Given the description of an element on the screen output the (x, y) to click on. 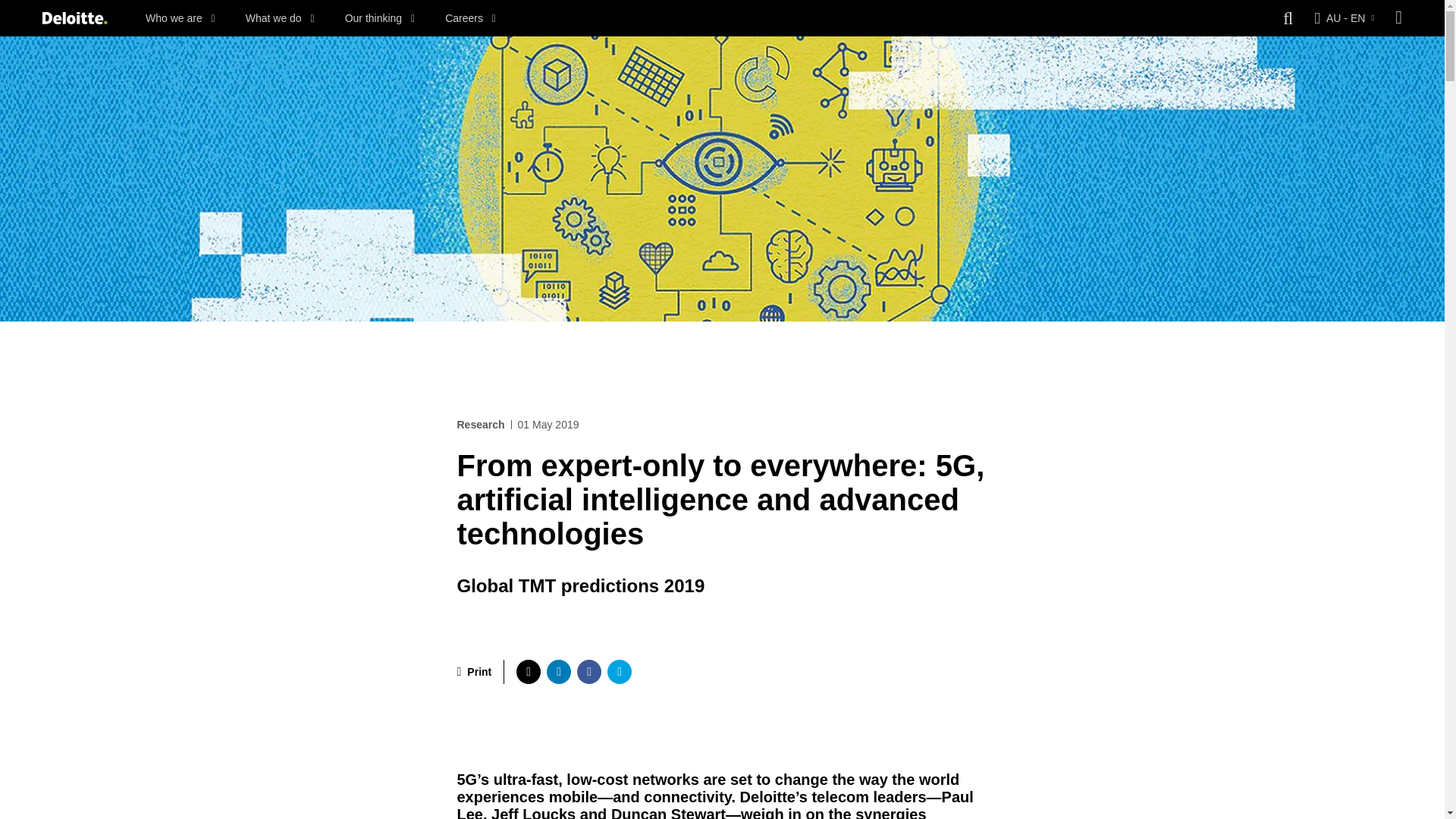
Deloitte (74, 18)
Who we are (180, 18)
share via email (619, 671)
Print (474, 671)
Careers (470, 18)
share via linkedin (558, 671)
What we do (280, 18)
Our thinking (379, 18)
share via twitter (528, 671)
share via facebook (588, 671)
